Given the description of an element on the screen output the (x, y) to click on. 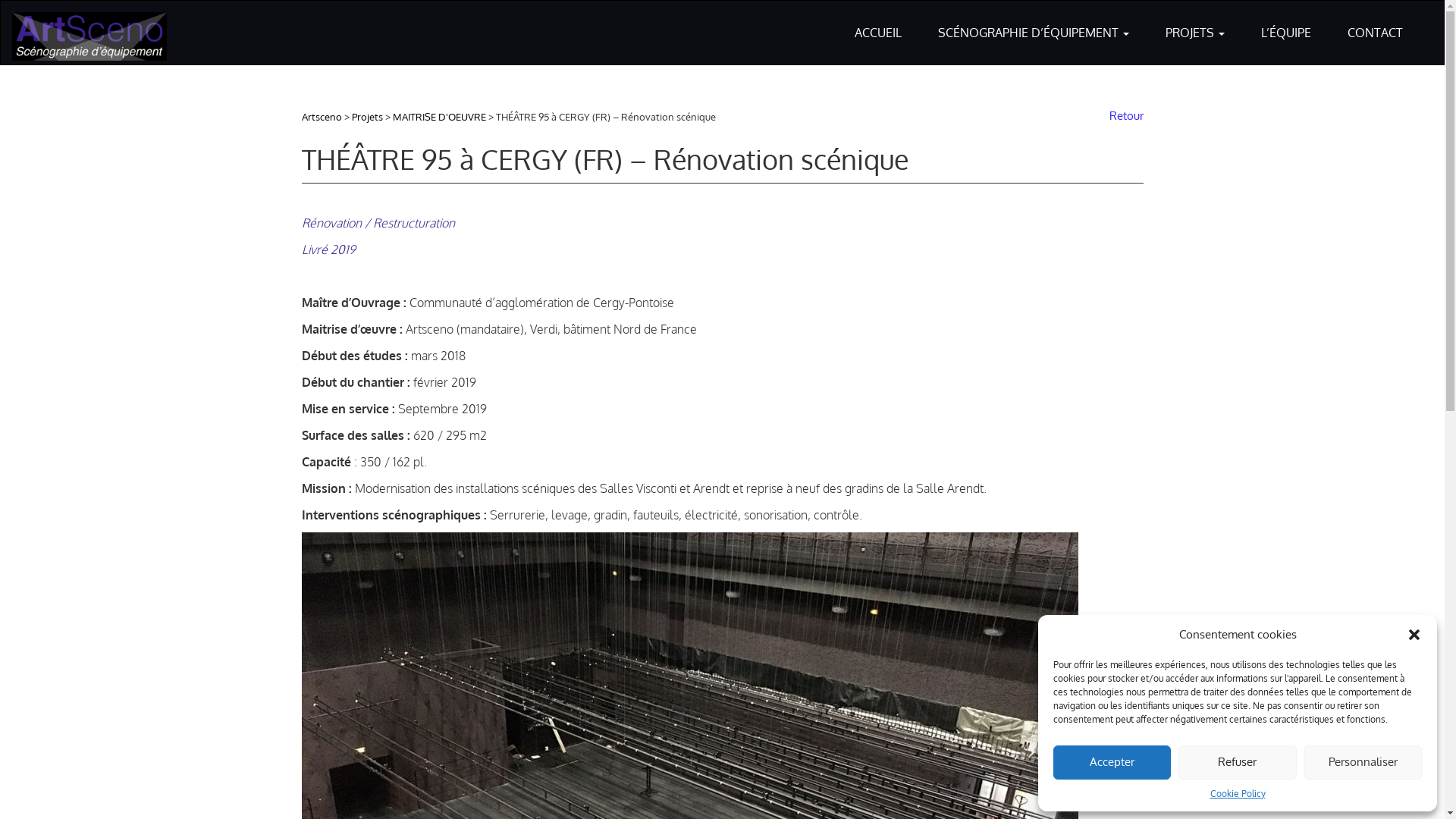
Personnaliser Element type: text (1362, 762)
Projets Element type: text (366, 116)
CONTACT Element type: text (1374, 22)
Refuser Element type: text (1236, 762)
ACCUEIL Element type: text (877, 22)
Accepter Element type: text (1111, 762)
MAITRISE D'OEUVRE Element type: text (439, 116)
  Retour Element type: text (1122, 115)
PROJETS Element type: text (1194, 22)
Cookie Policy Element type: text (1237, 793)
Artsceno Element type: text (321, 116)
